Given the description of an element on the screen output the (x, y) to click on. 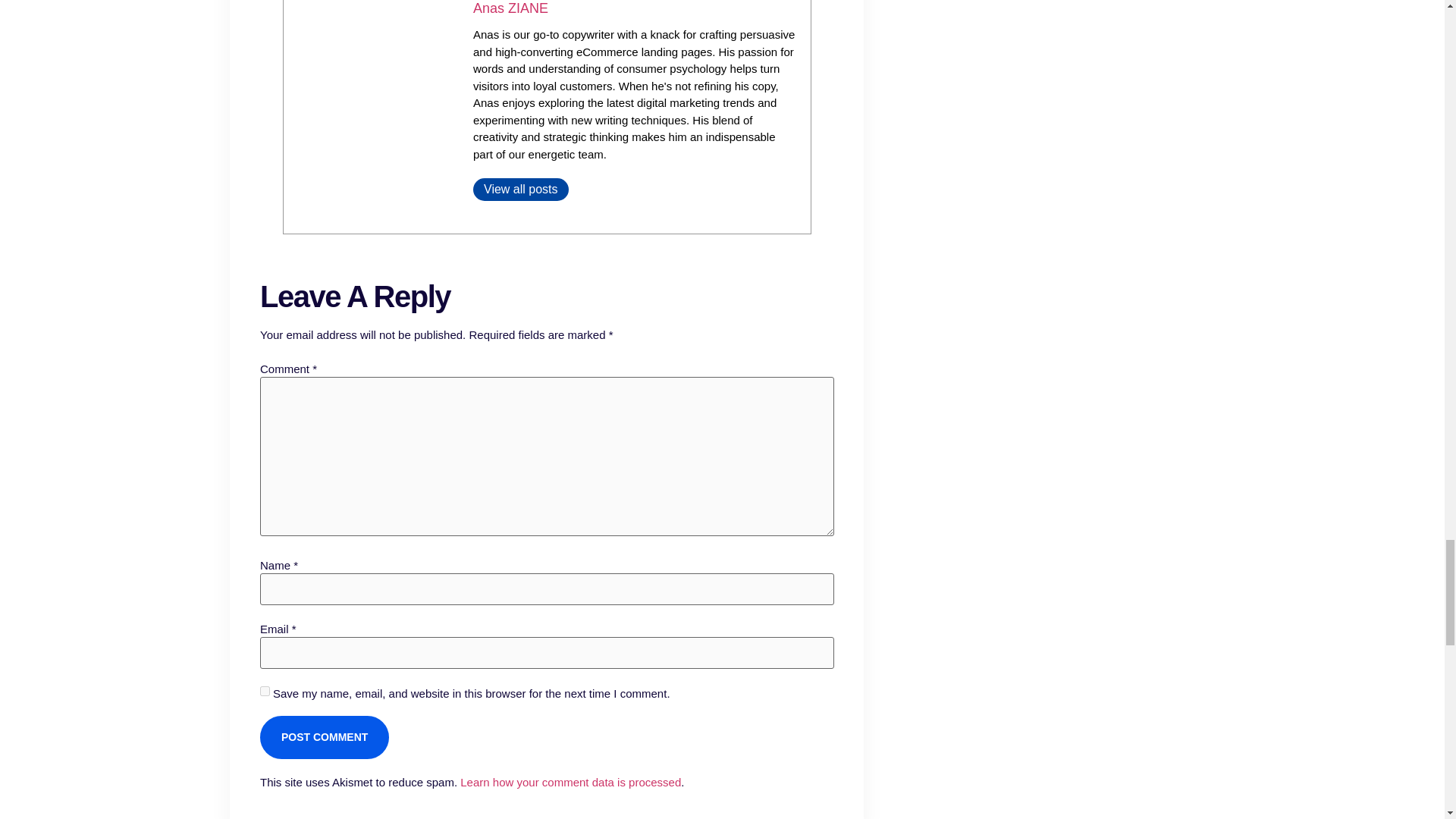
Anas ZIANE (510, 7)
Post Comment (323, 737)
yes (264, 690)
View all posts (521, 189)
